Given the description of an element on the screen output the (x, y) to click on. 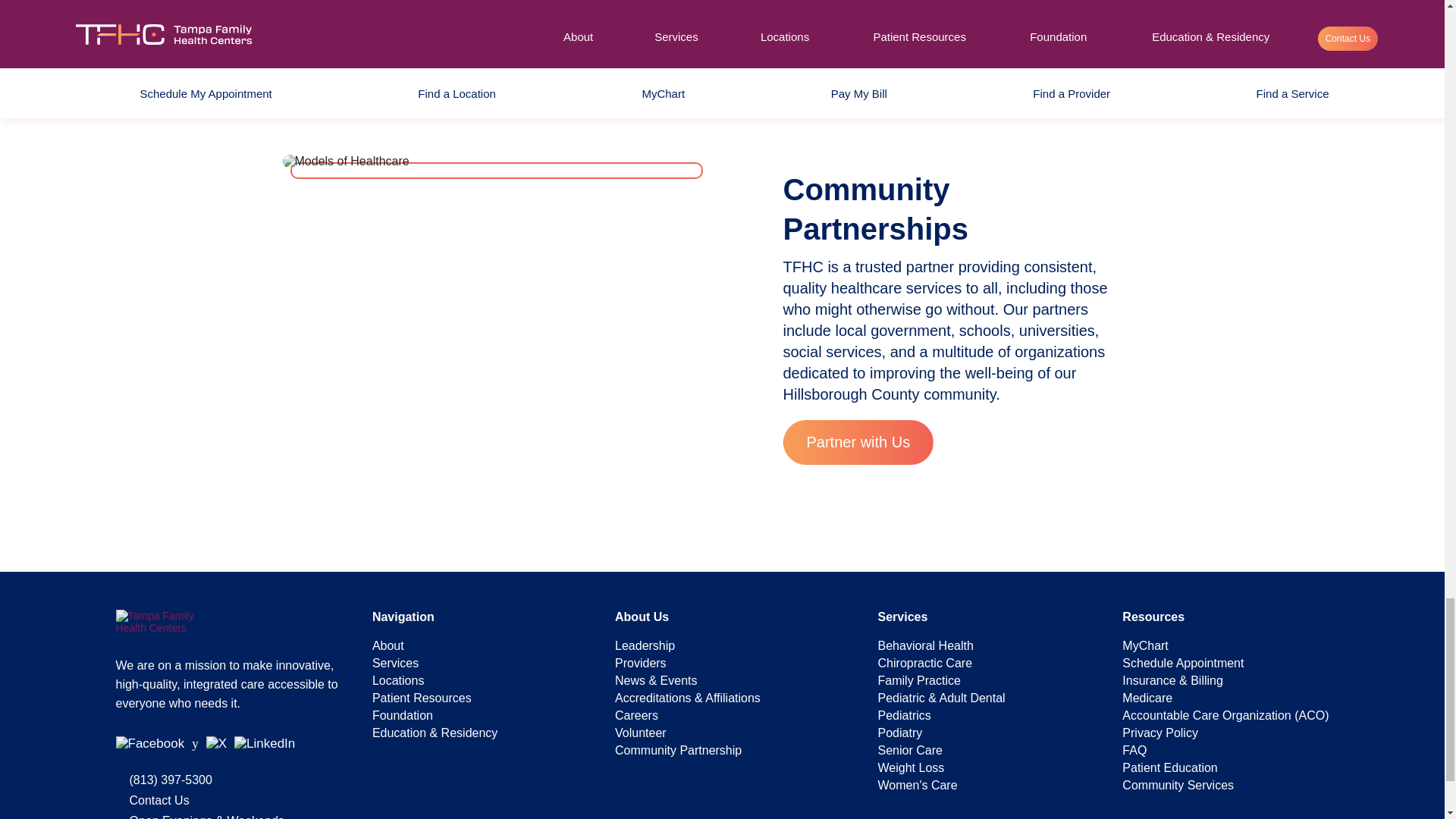
Contact Us (159, 799)
About (388, 645)
Services (395, 662)
Partner with Us (858, 442)
Locations (398, 680)
